Given the description of an element on the screen output the (x, y) to click on. 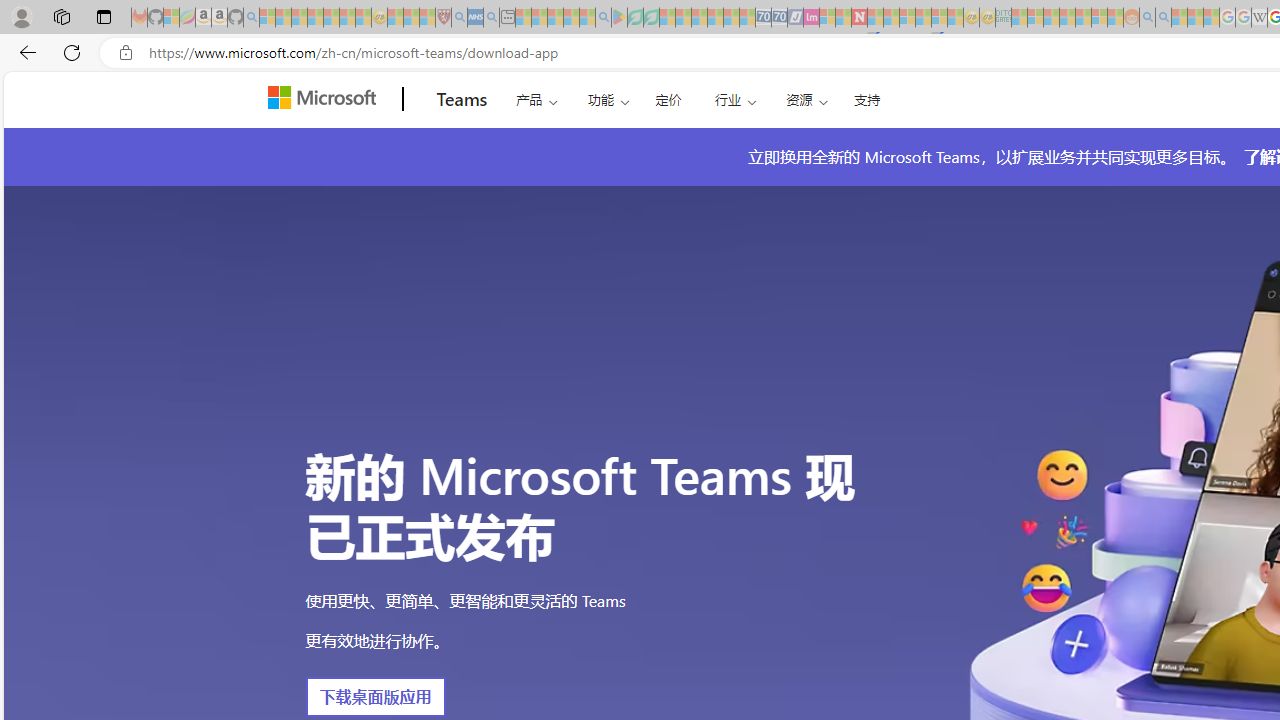
Bluey: Let's Play! - Apps on Google Play - Sleeping (619, 17)
google - Search - Sleeping (603, 17)
Latest Politics News & Archive | Newsweek.com - Sleeping (859, 17)
utah sues federal government - Search - Sleeping (491, 17)
Cheap Car Rentals - Save70.com - Sleeping (763, 17)
Robert H. Shmerling, MD - Harvard Health - Sleeping (443, 17)
Expert Portfolios - Sleeping (1067, 17)
